Given the description of an element on the screen output the (x, y) to click on. 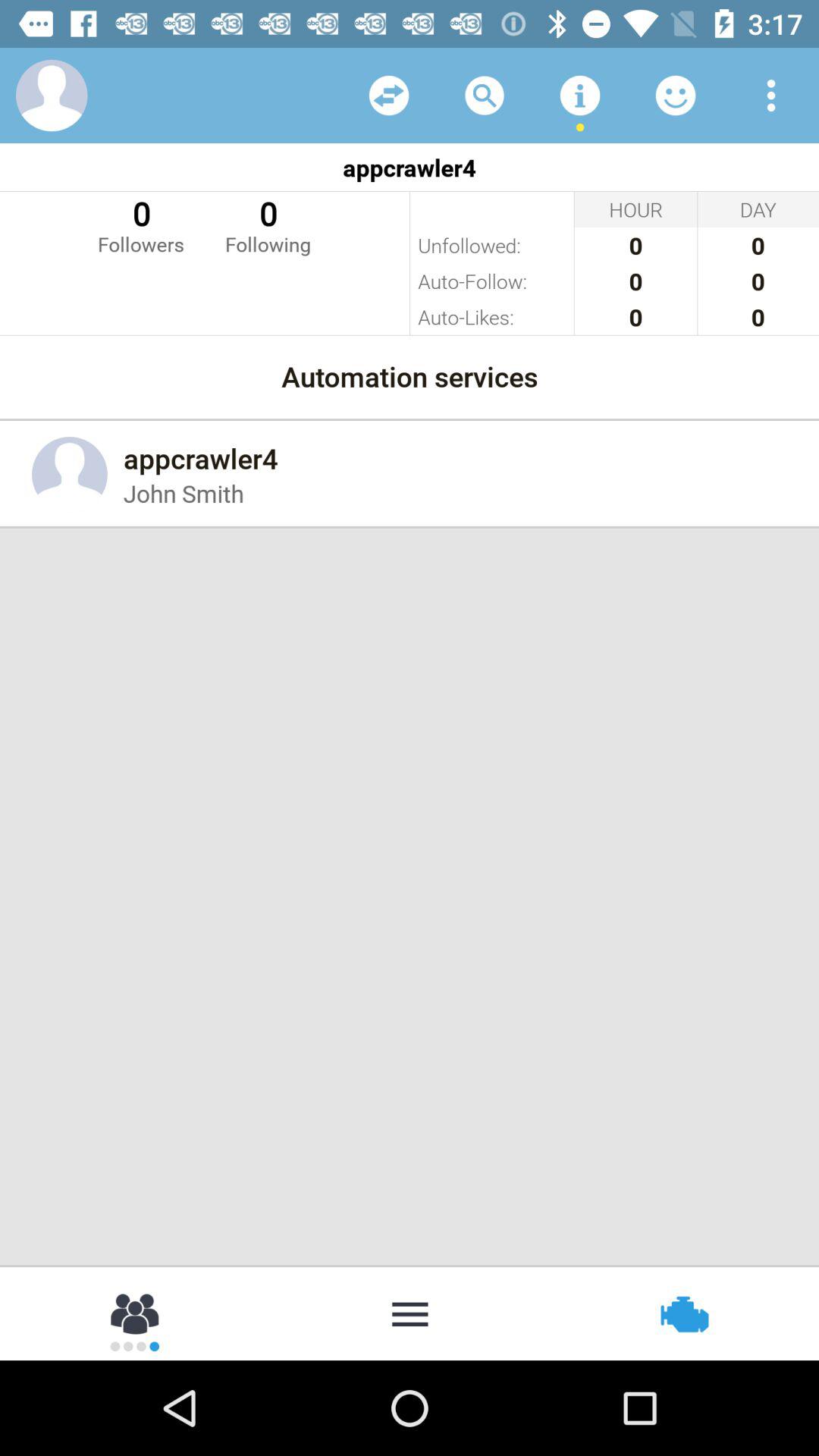
add more people (136, 1312)
